Given the description of an element on the screen output the (x, y) to click on. 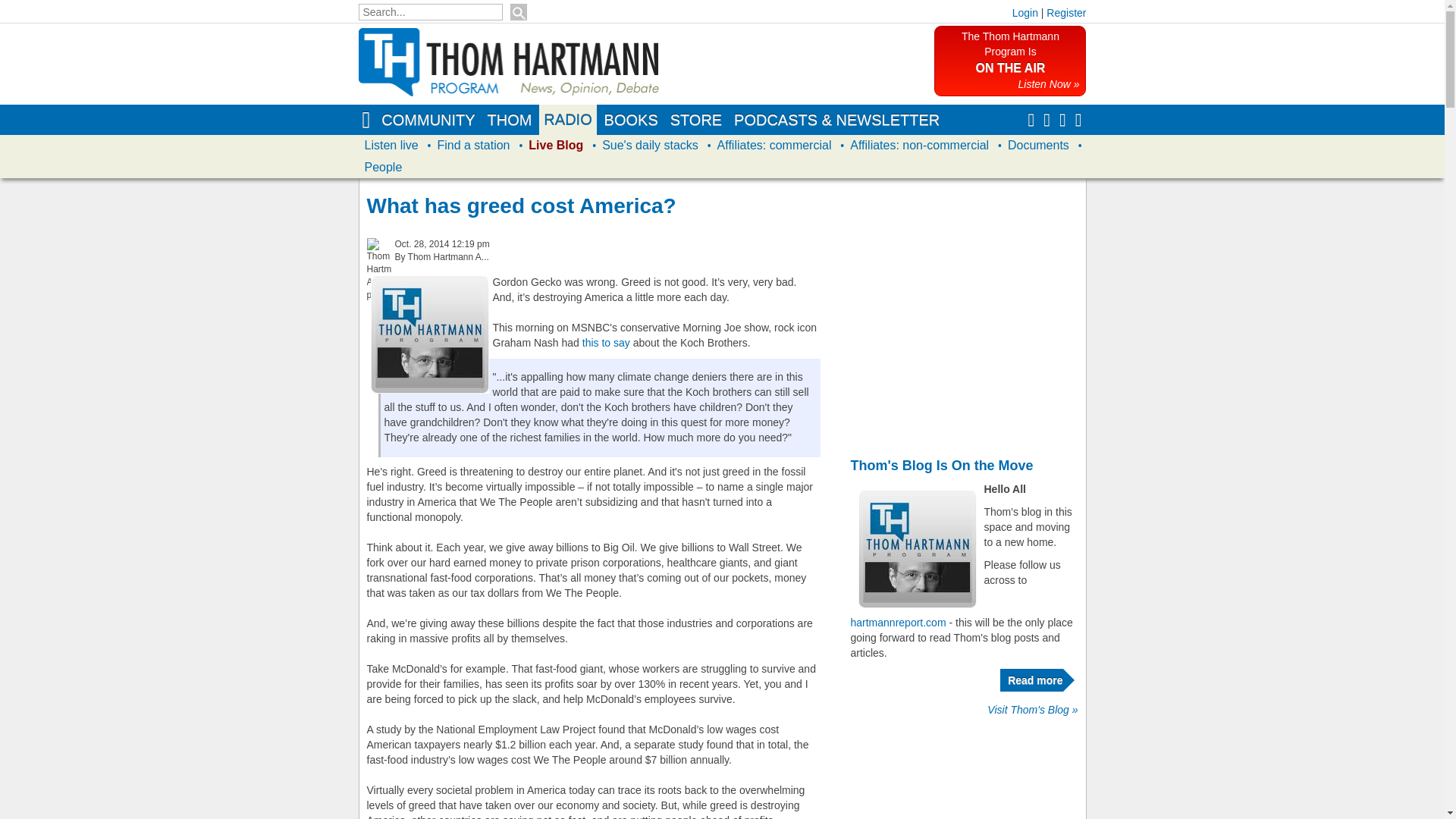
Affiliates: non-commercial (919, 146)
Thom's books (630, 119)
BOOKS (630, 119)
People (382, 168)
Documents (1038, 146)
Login (1024, 12)
Radio Show (566, 119)
Listen live (390, 146)
Find a station (472, 146)
Sue's daily stacks (649, 146)
